Given the description of an element on the screen output the (x, y) to click on. 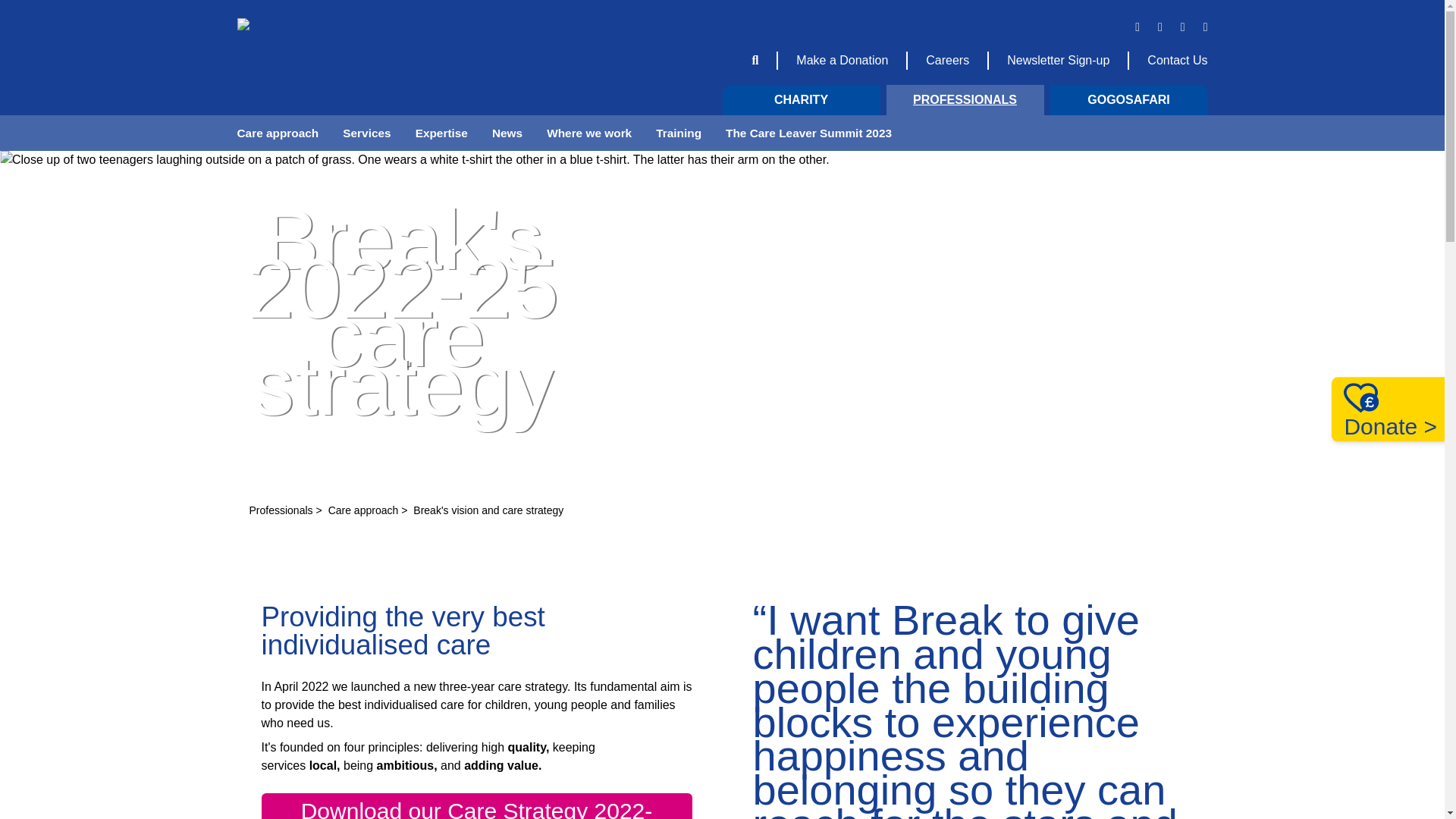
Careers (947, 60)
GOGOSAFARI (1128, 100)
PROFESSIONALS (964, 100)
Newsletter Sign-up (1058, 60)
CHARITY (800, 100)
Contact Us (1177, 60)
Make a Donation (842, 60)
